Given the description of an element on the screen output the (x, y) to click on. 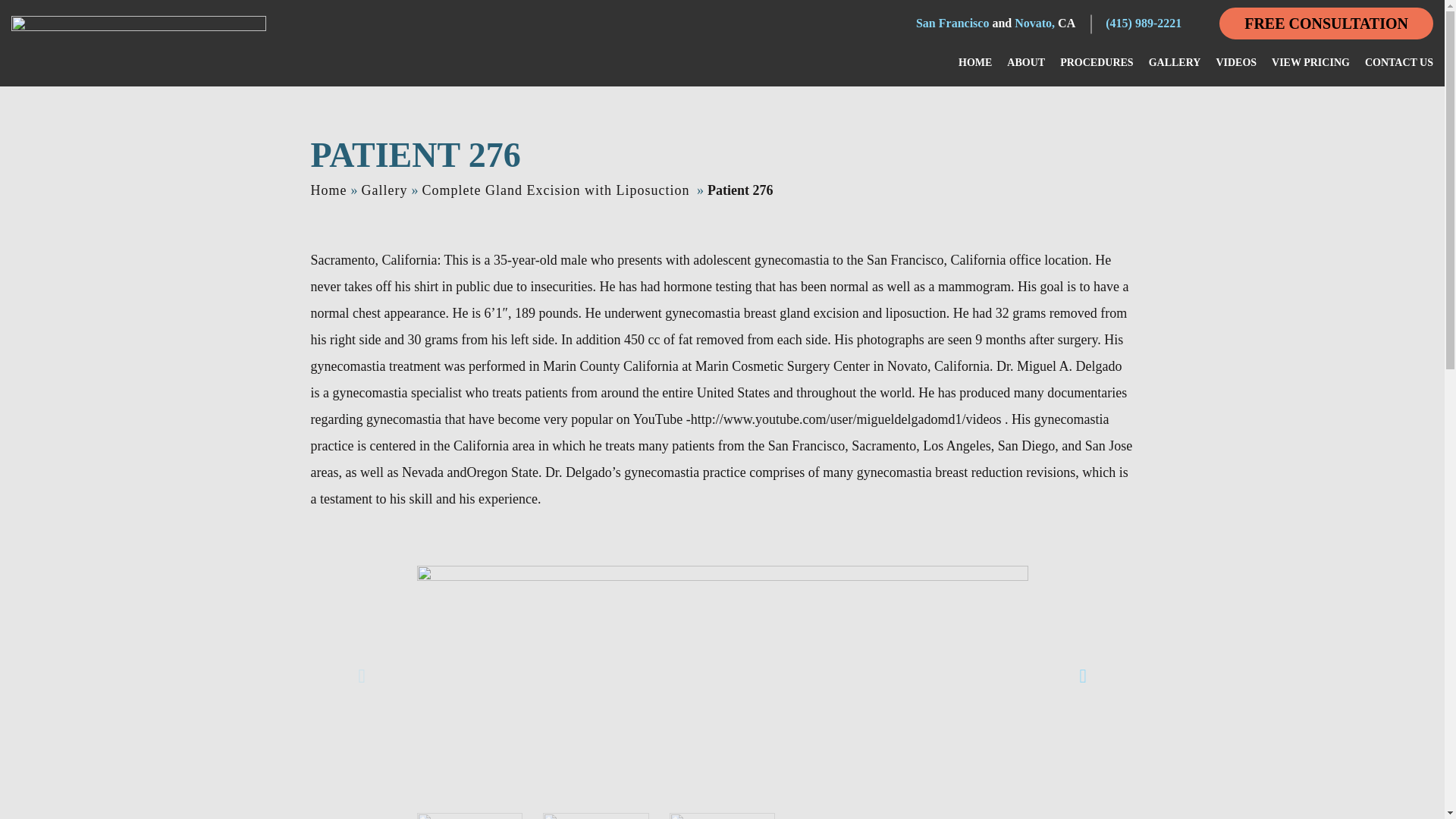
FREE CONSULTATION (1326, 23)
ABOUT (1026, 62)
Novato, (1034, 22)
HOME (974, 62)
San Francisco (951, 22)
